Given the description of an element on the screen output the (x, y) to click on. 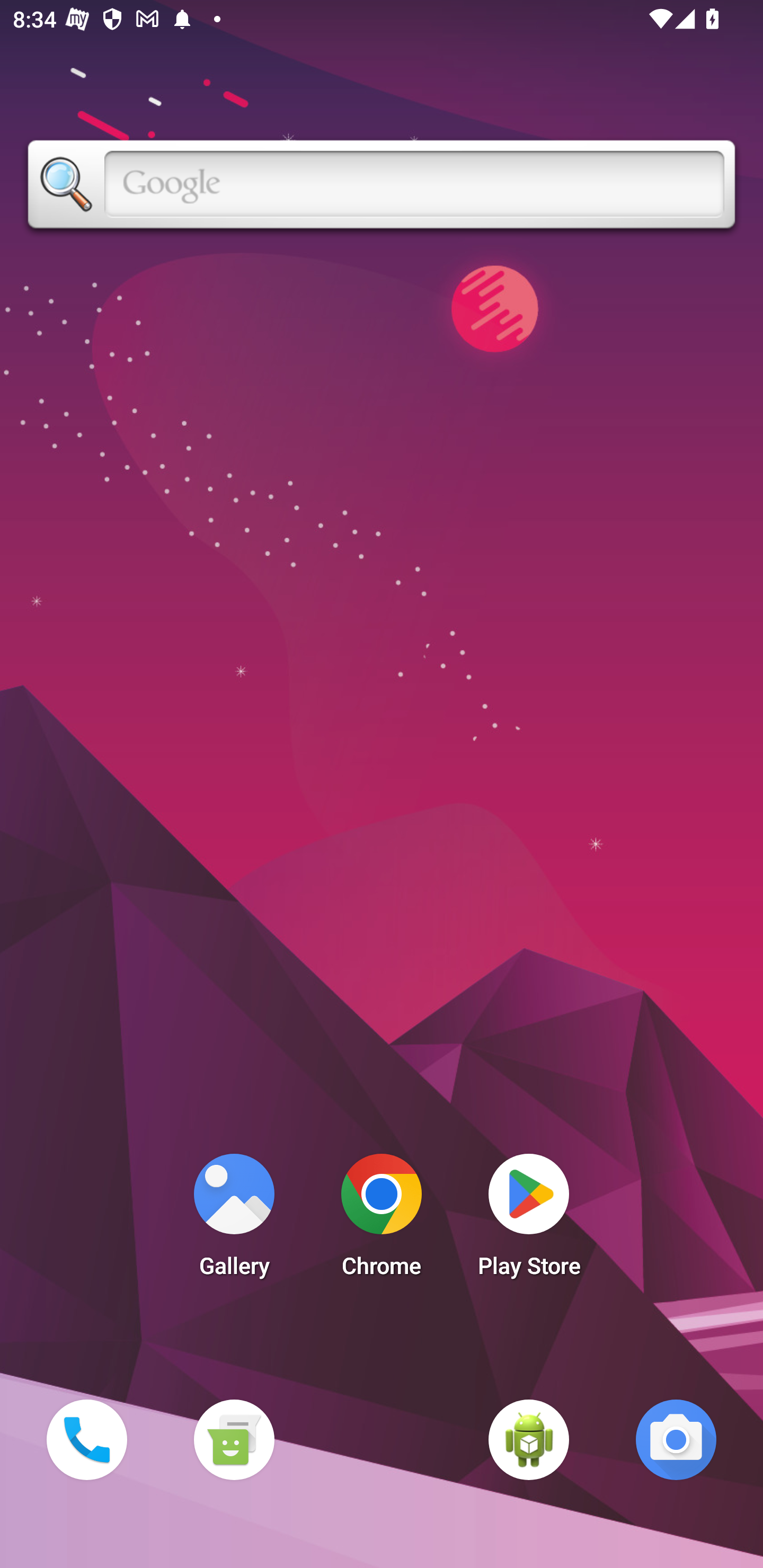
Gallery (233, 1220)
Chrome (381, 1220)
Play Store (528, 1220)
Phone (86, 1439)
Messaging (233, 1439)
WebView Browser Tester (528, 1439)
Camera (676, 1439)
